Given the description of an element on the screen output the (x, y) to click on. 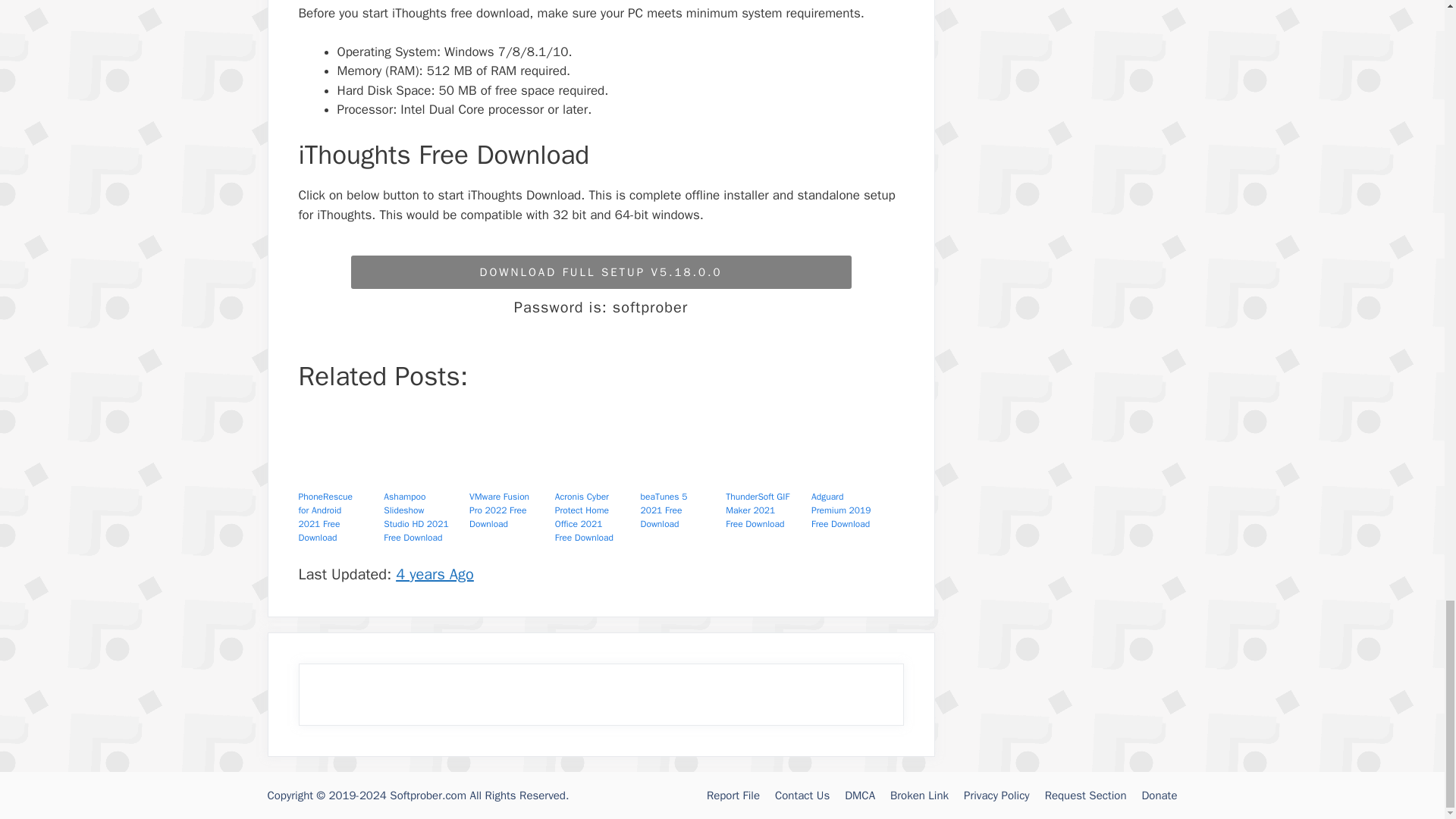
ThunderSoft GIF Maker 2021 Free Download (765, 473)
PhoneRescue for Android 2021 Free Download (338, 473)
Acronis Cyber Protect Home Office 2021 Free Download (594, 473)
Adguard Premium 2019 Free Download (850, 473)
Size: 25 MB (600, 272)
beaTunes 5 2021 Free Download (680, 473)
VMware Fusion Pro 2022  Free Download (509, 473)
DOWNLOAD FULL SETUP V5.18.0.0 (600, 272)
Ashampoo Slideshow Studio HD 2021 Free Download (424, 473)
